Given the description of an element on the screen output the (x, y) to click on. 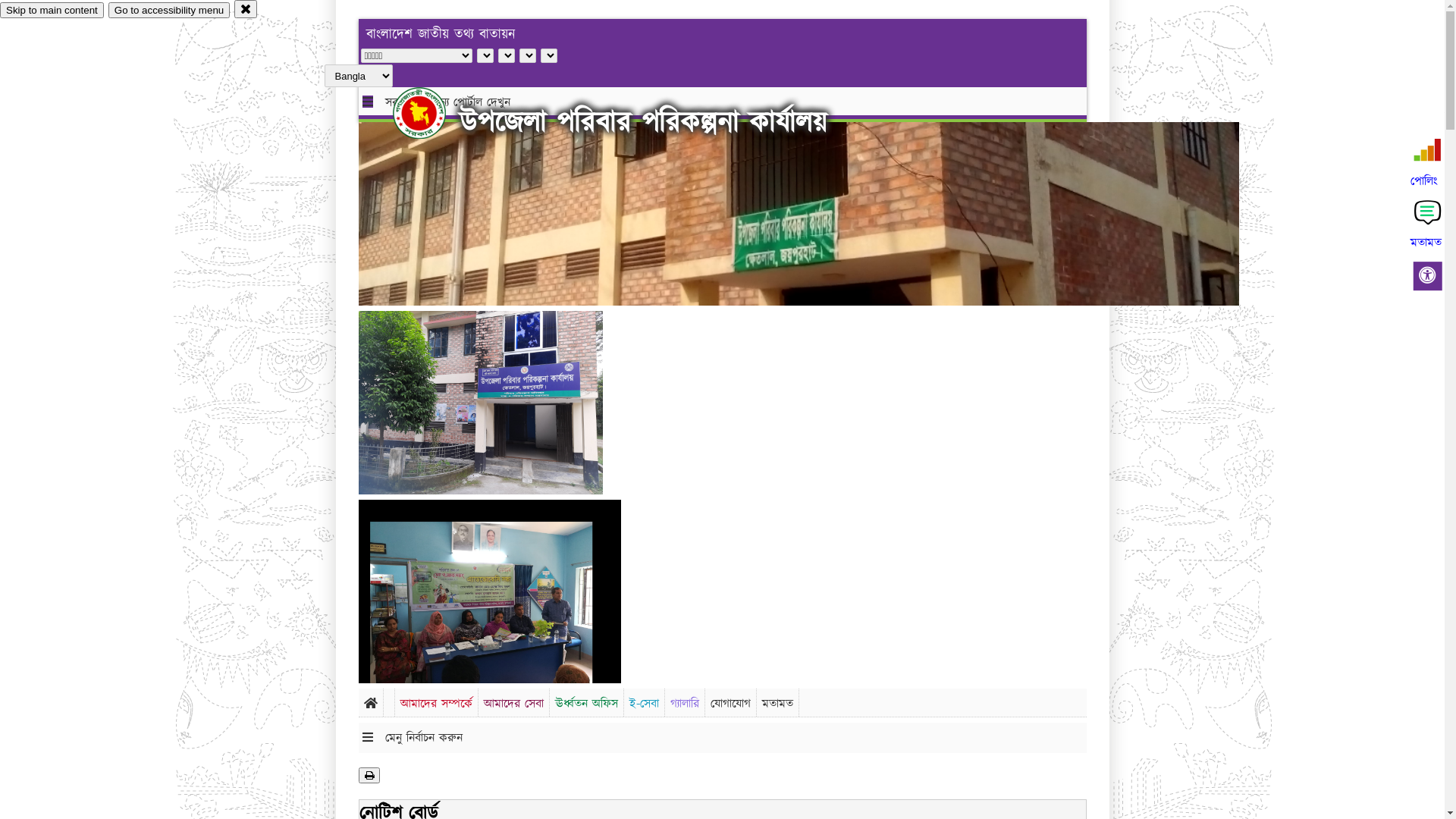
close Element type: hover (245, 9)
Skip to main content Element type: text (51, 10)

                
             Element type: hover (431, 112)
Go to accessibility menu Element type: text (168, 10)
